Given the description of an element on the screen output the (x, y) to click on. 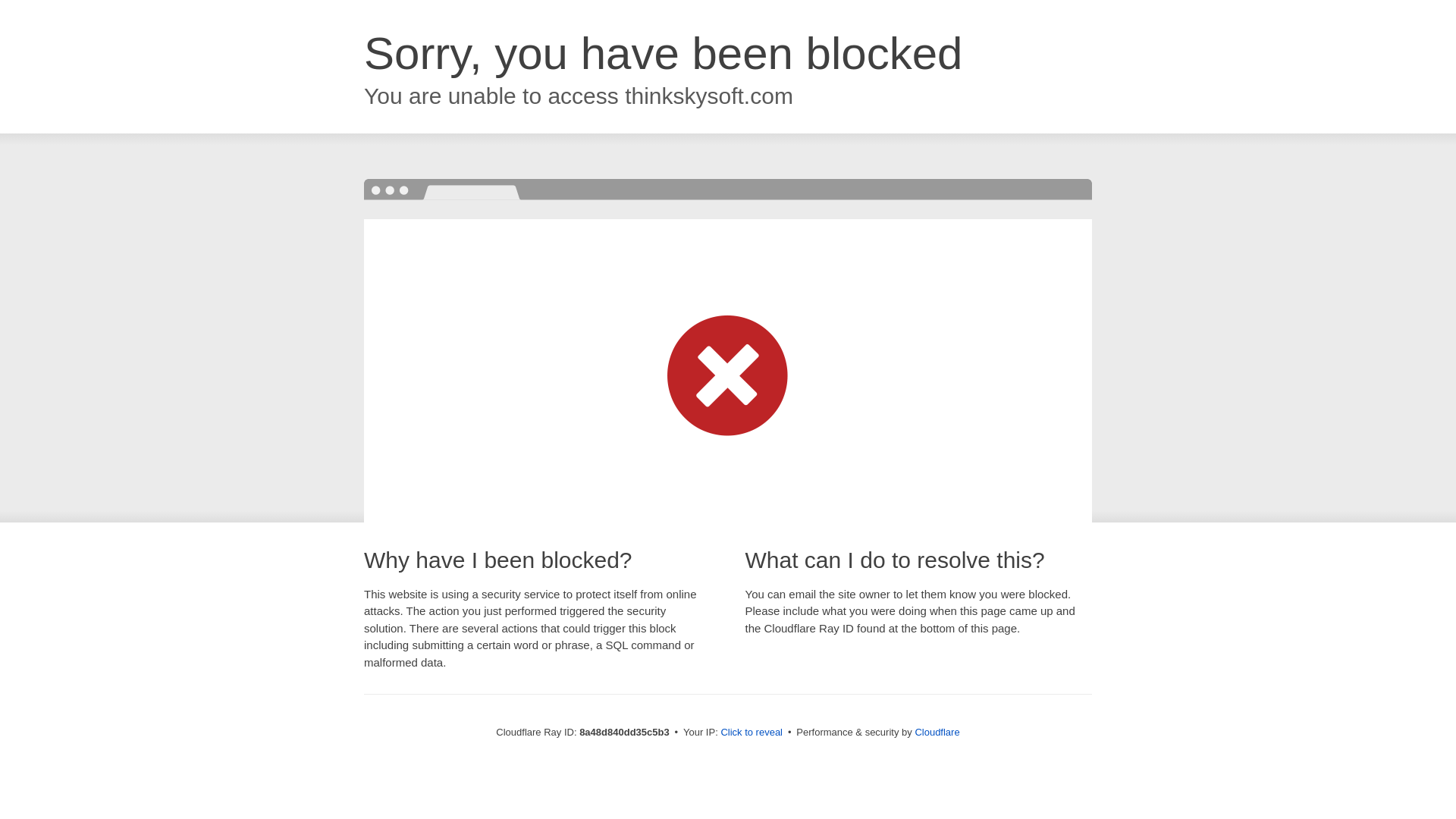
Click to reveal (751, 732)
Cloudflare (936, 731)
